Given the description of an element on the screen output the (x, y) to click on. 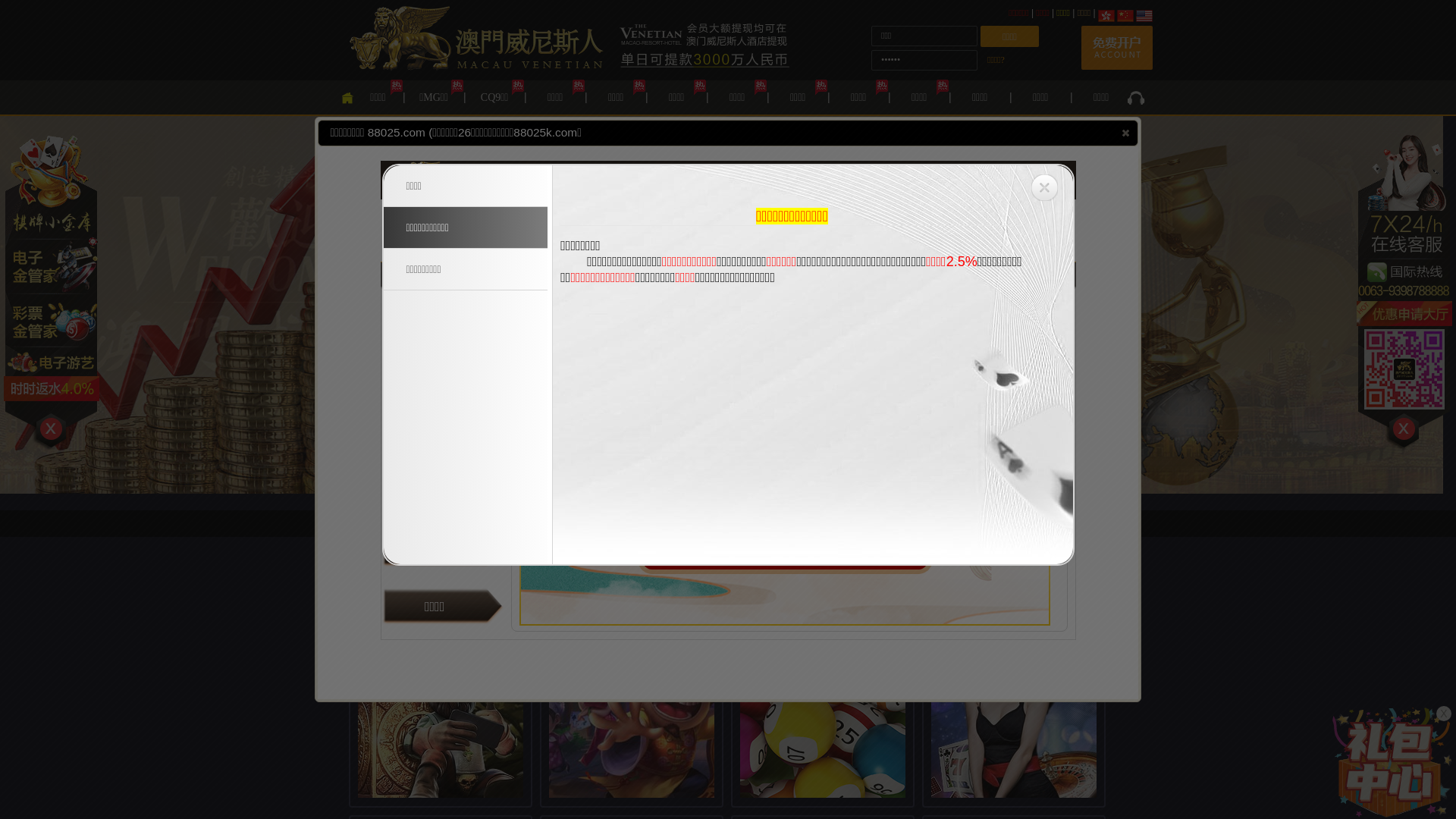
X Element type: text (1443, 713)
close Element type: text (1125, 132)
